Given the description of an element on the screen output the (x, y) to click on. 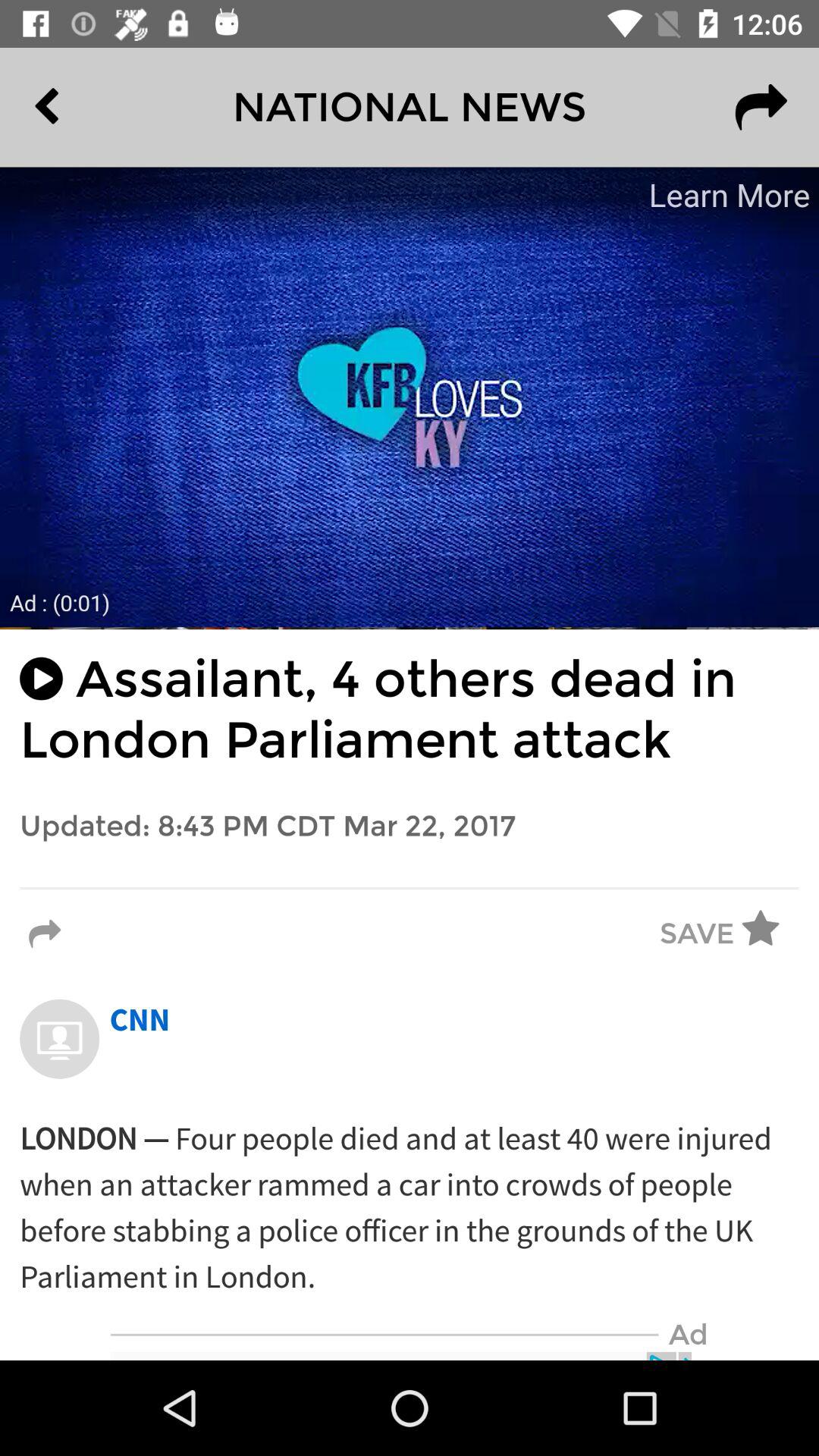
open advertisement (409, 397)
